Given the description of an element on the screen output the (x, y) to click on. 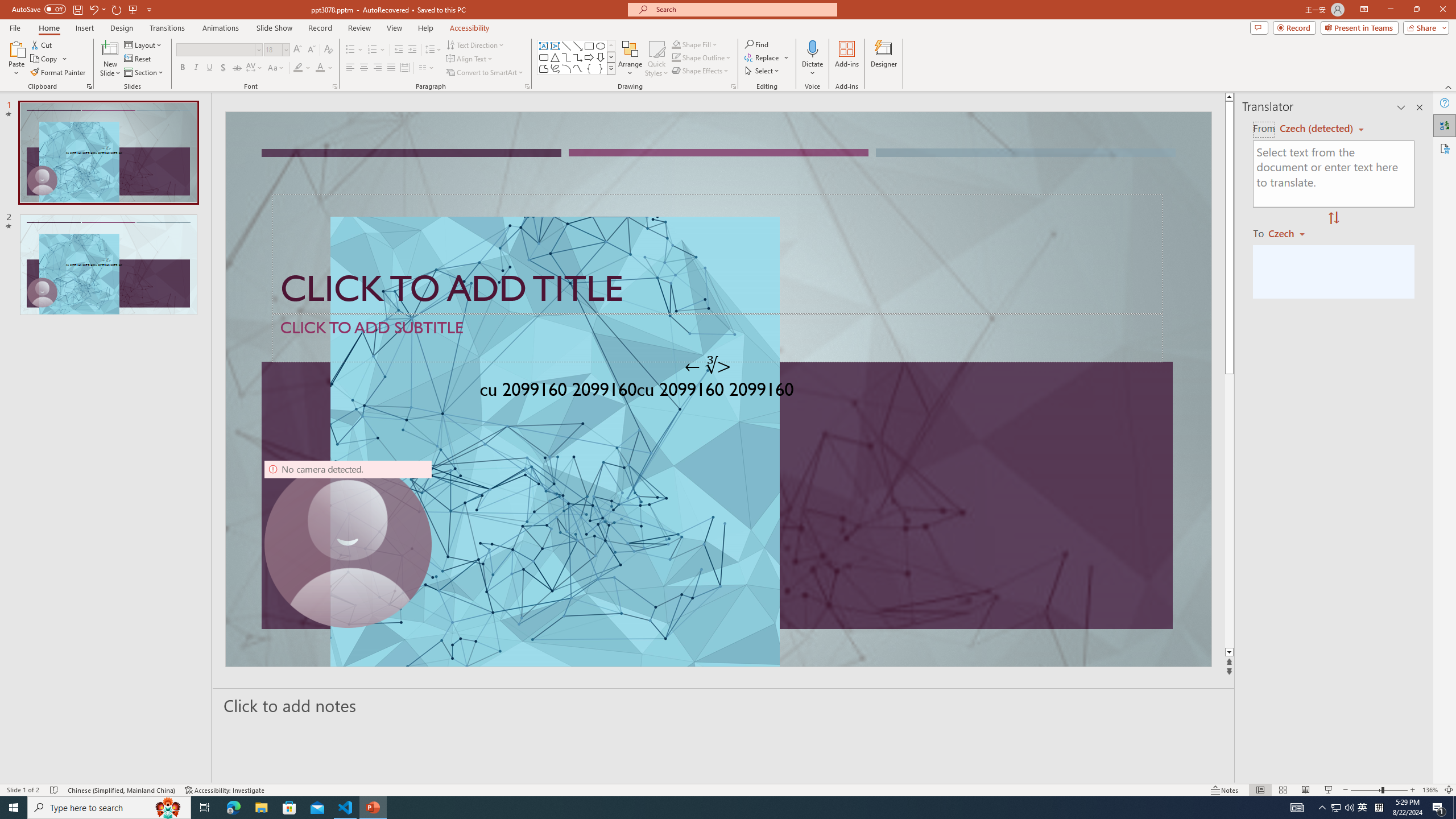
Find... (756, 44)
New Slide (110, 58)
AutomationID: ShapesInsertGallery (576, 57)
Character Spacing (254, 67)
Reset (138, 58)
Copy (45, 58)
Accessibility Checker Accessibility: Investigate (224, 790)
Shadow (223, 67)
Bullets (349, 49)
Slide (108, 264)
Curve (577, 68)
